Given the description of an element on the screen output the (x, y) to click on. 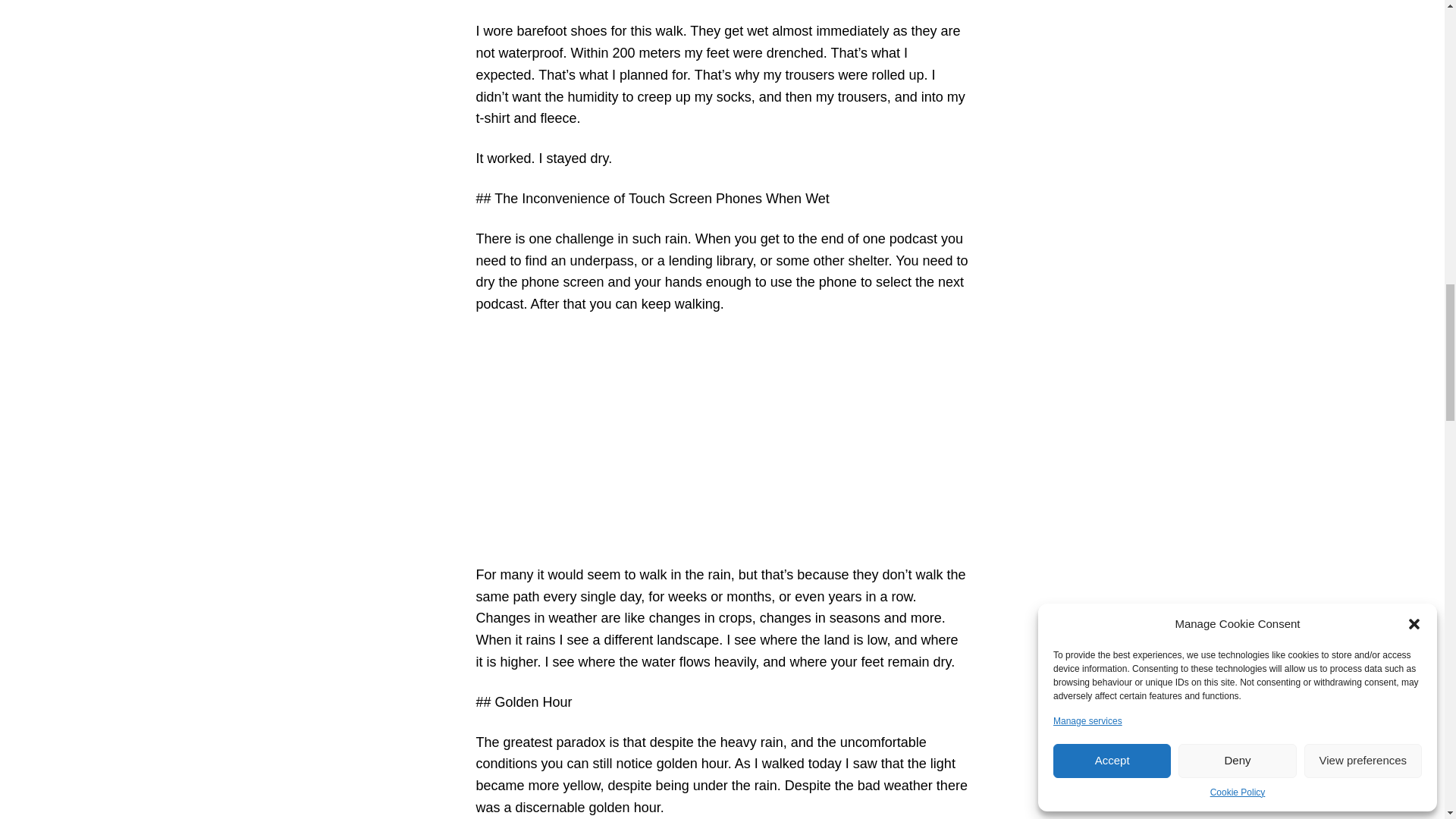
Advertisement (722, 439)
